Given the description of an element on the screen output the (x, y) to click on. 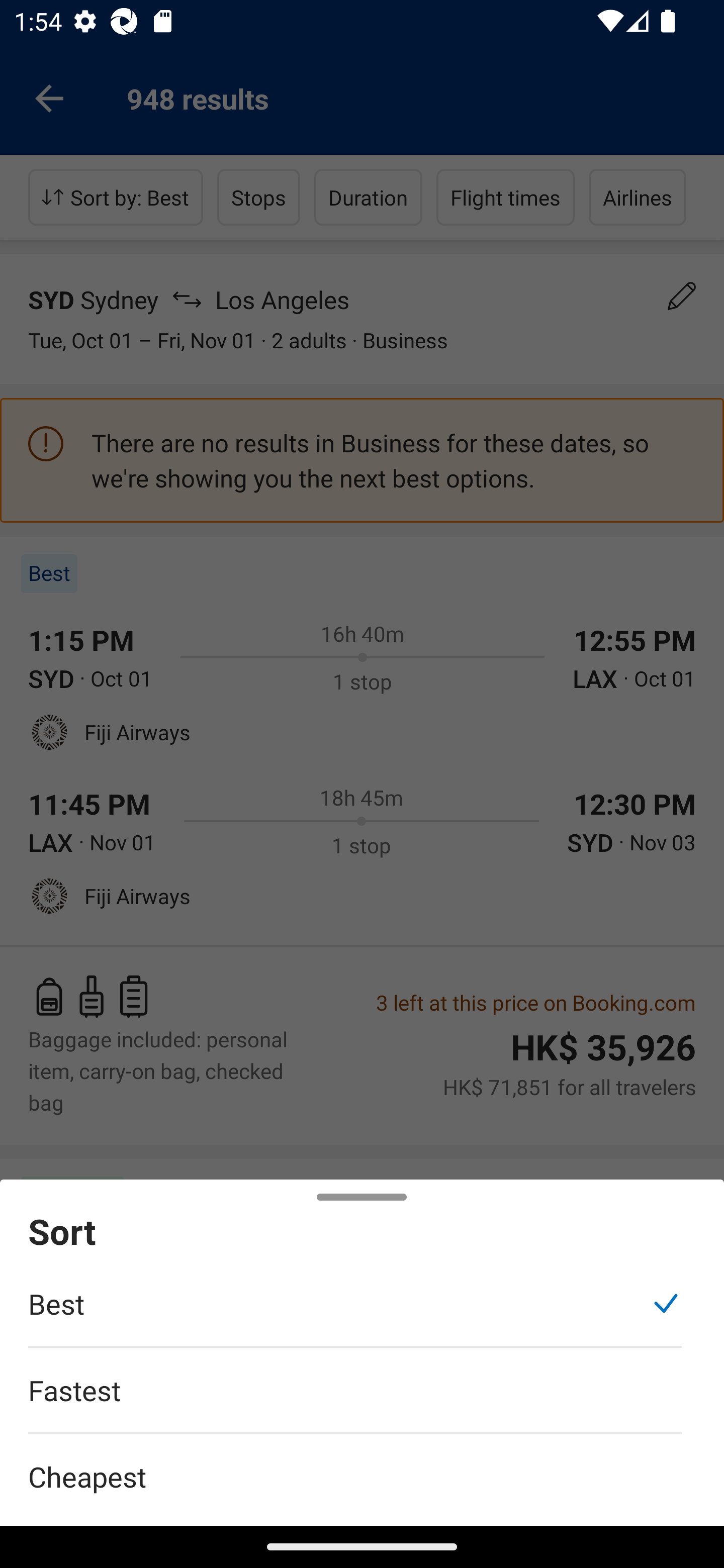
Best (355, 1313)
Fastest (355, 1399)
Cheapest (362, 1465)
